Given the description of an element on the screen output the (x, y) to click on. 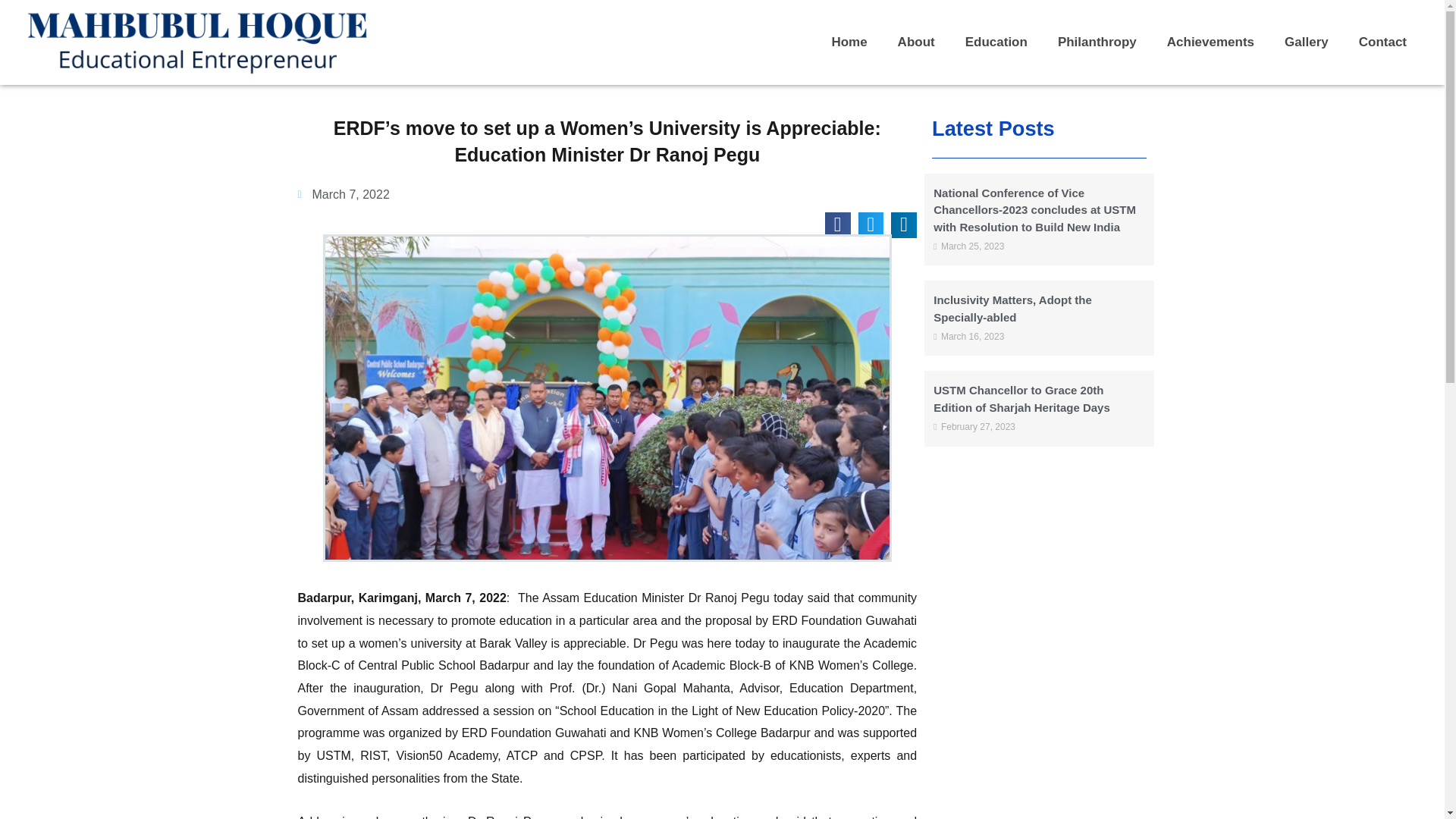
About (916, 42)
Achievements (1210, 42)
Gallery (1306, 42)
Philanthropy (1096, 42)
Contact (1382, 42)
Education (996, 42)
Home (848, 42)
